Given the description of an element on the screen output the (x, y) to click on. 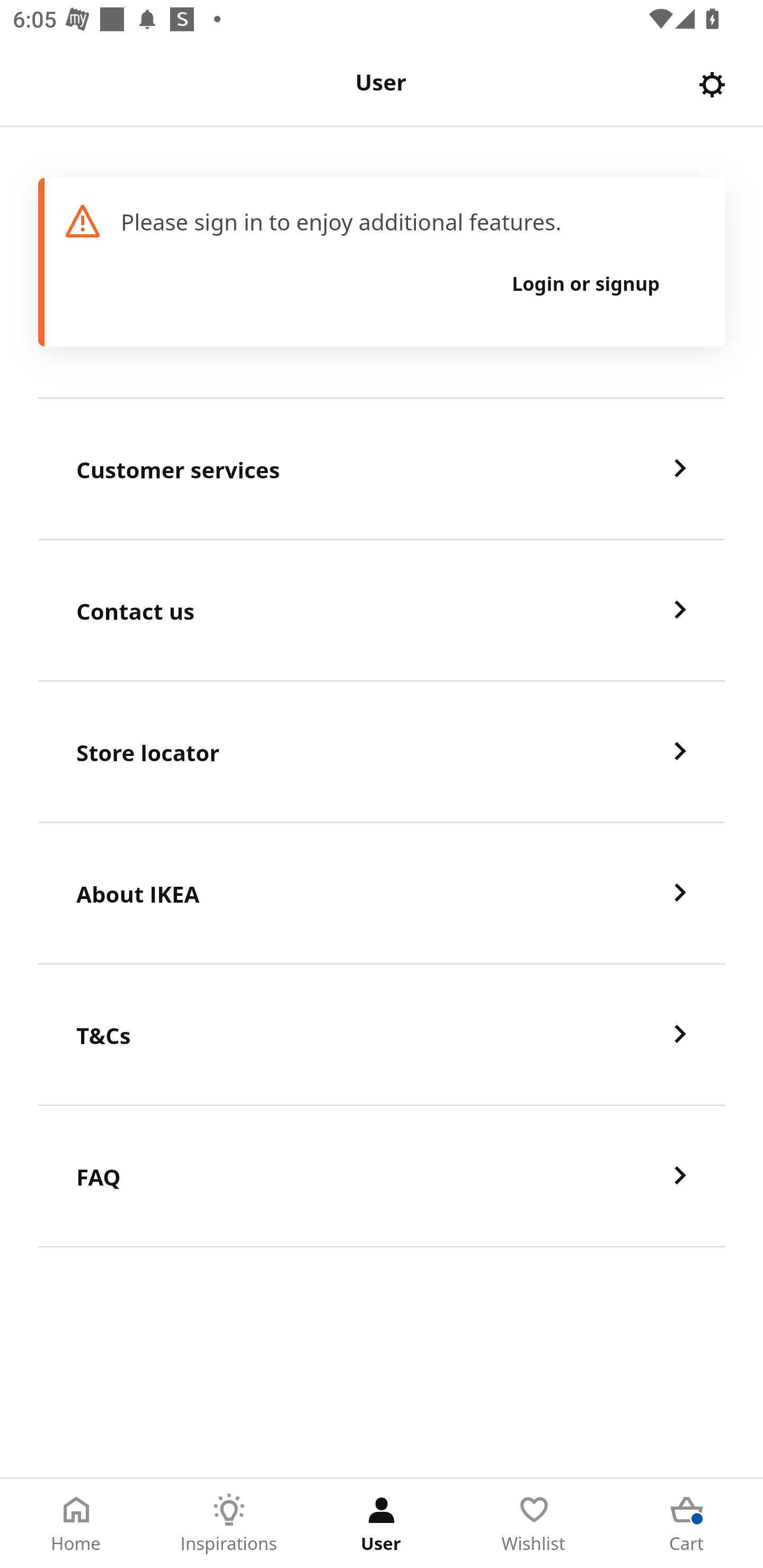
Login or signup (586, 282)
Customer services (381, 469)
Contact us (381, 611)
Store locator (381, 752)
About IKEA (381, 893)
T&Cs (381, 1034)
FAQ (381, 1176)
Home
Tab 1 of 5 (76, 1522)
Inspirations
Tab 2 of 5 (228, 1522)
User
Tab 3 of 5 (381, 1522)
Wishlist
Tab 4 of 5 (533, 1522)
Cart
Tab 5 of 5 (686, 1522)
